Given the description of an element on the screen output the (x, y) to click on. 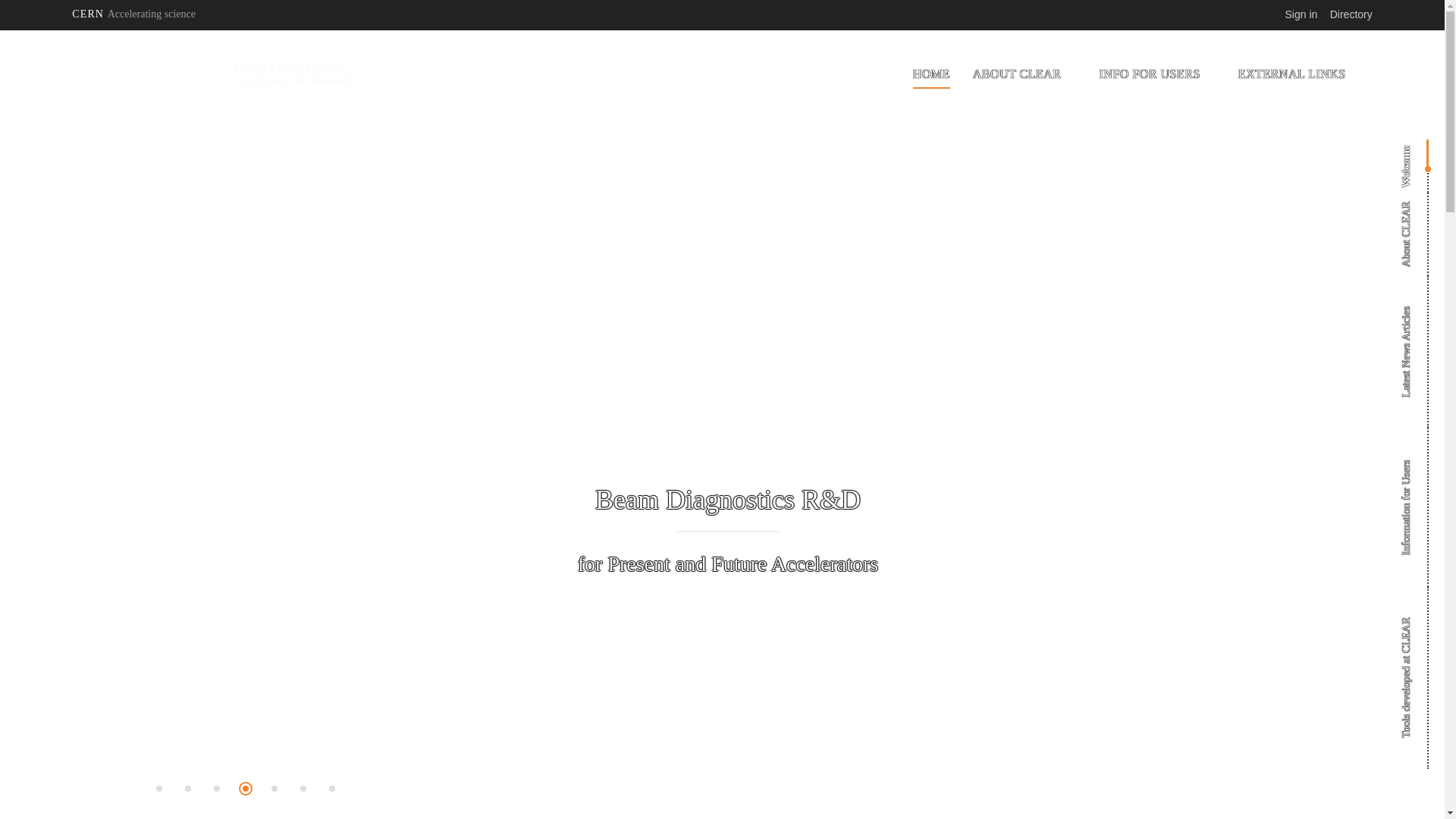
EXTERNAL LINKS Element type: text (1292, 74)
INFO FOR USERS Element type: text (1149, 74)
Sign in Element type: text (1301, 14)
Skip to main content Element type: text (0, 30)
Home Element type: hover (149, 73)
CERN Accelerating science Element type: text (133, 14)
Welcome Element type: text (1425, 147)
Directory Element type: text (1351, 14)
ABOUT CLEAR Element type: text (1016, 74)
HOME Element type: text (931, 74)
